Given the description of an element on the screen output the (x, y) to click on. 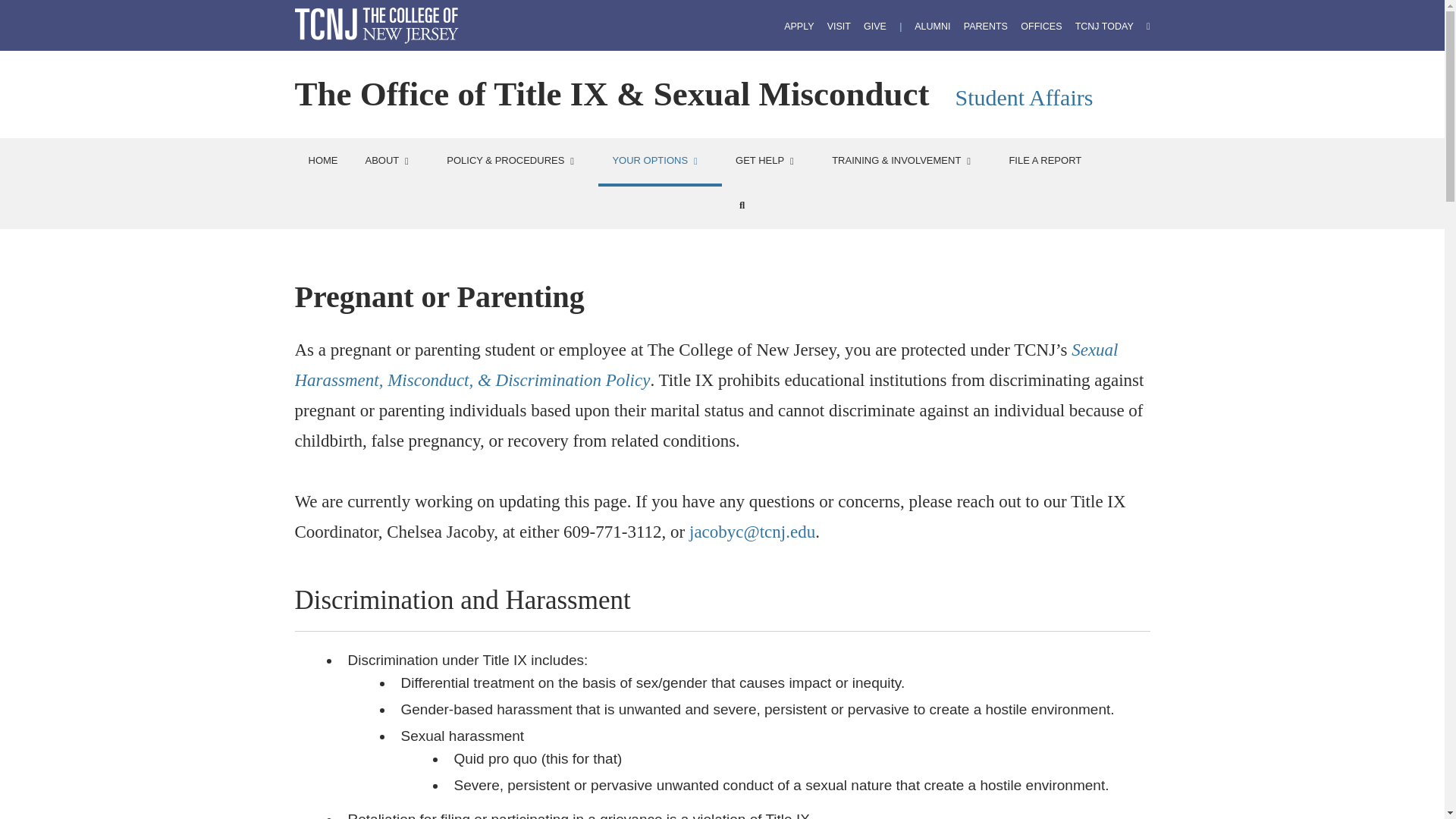
ALUMNI (932, 26)
HOME (322, 160)
GIVE (874, 26)
Student Affairs (1024, 97)
VISIT (838, 26)
TCNJ TODAY (1104, 26)
APPLY (798, 26)
PARENTS (985, 26)
OFFICES (1040, 26)
